Given the description of an element on the screen output the (x, y) to click on. 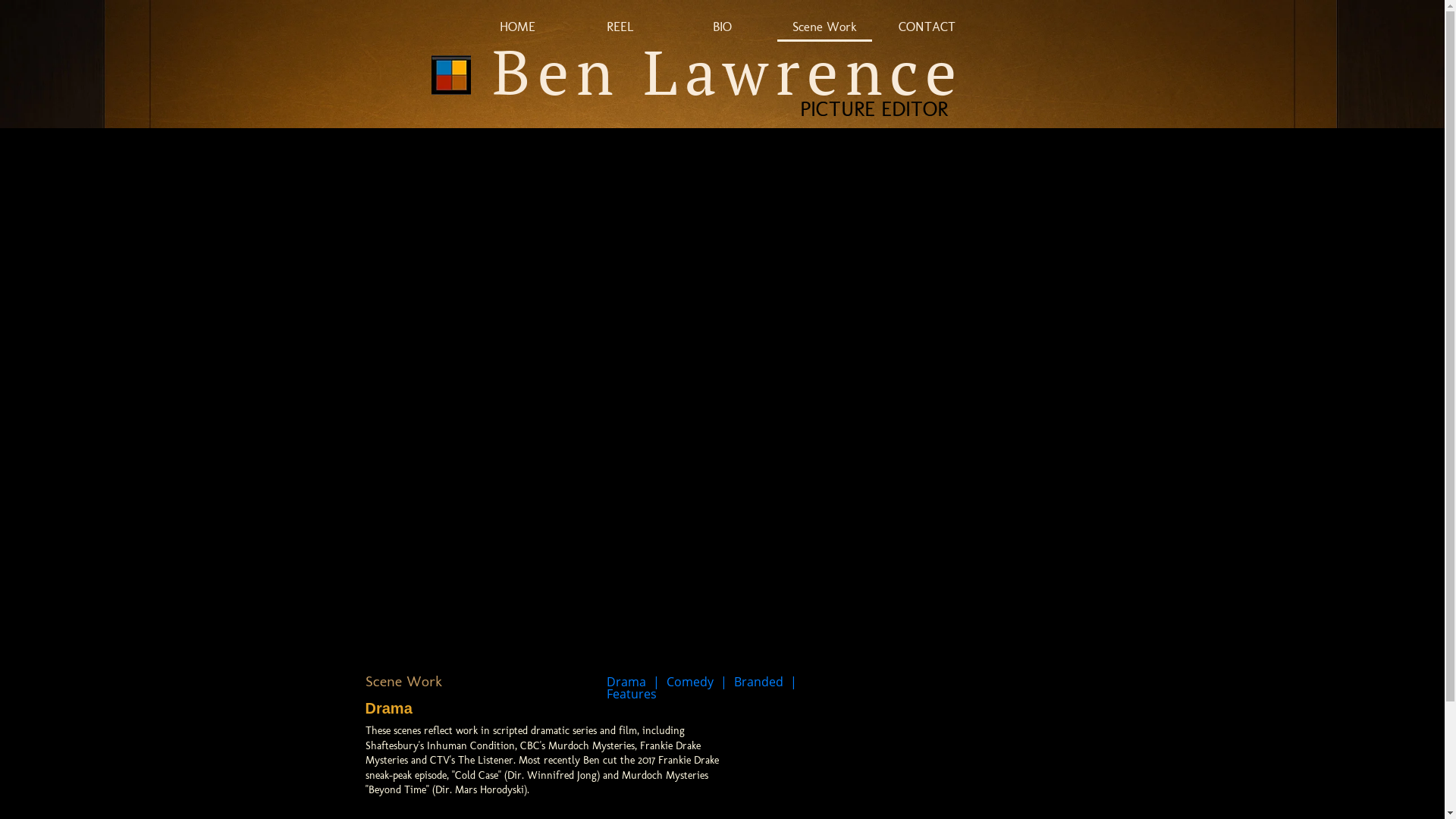
Comedy Element type: text (688, 681)
Scene Work Element type: text (824, 27)
CONTACT Element type: text (926, 27)
Drama Element type: text (626, 681)
REEL Element type: text (619, 27)
BIO Element type: text (721, 27)
HOME Element type: text (517, 27)
Branded Element type: text (758, 681)
Features Element type: text (631, 693)
